Given the description of an element on the screen output the (x, y) to click on. 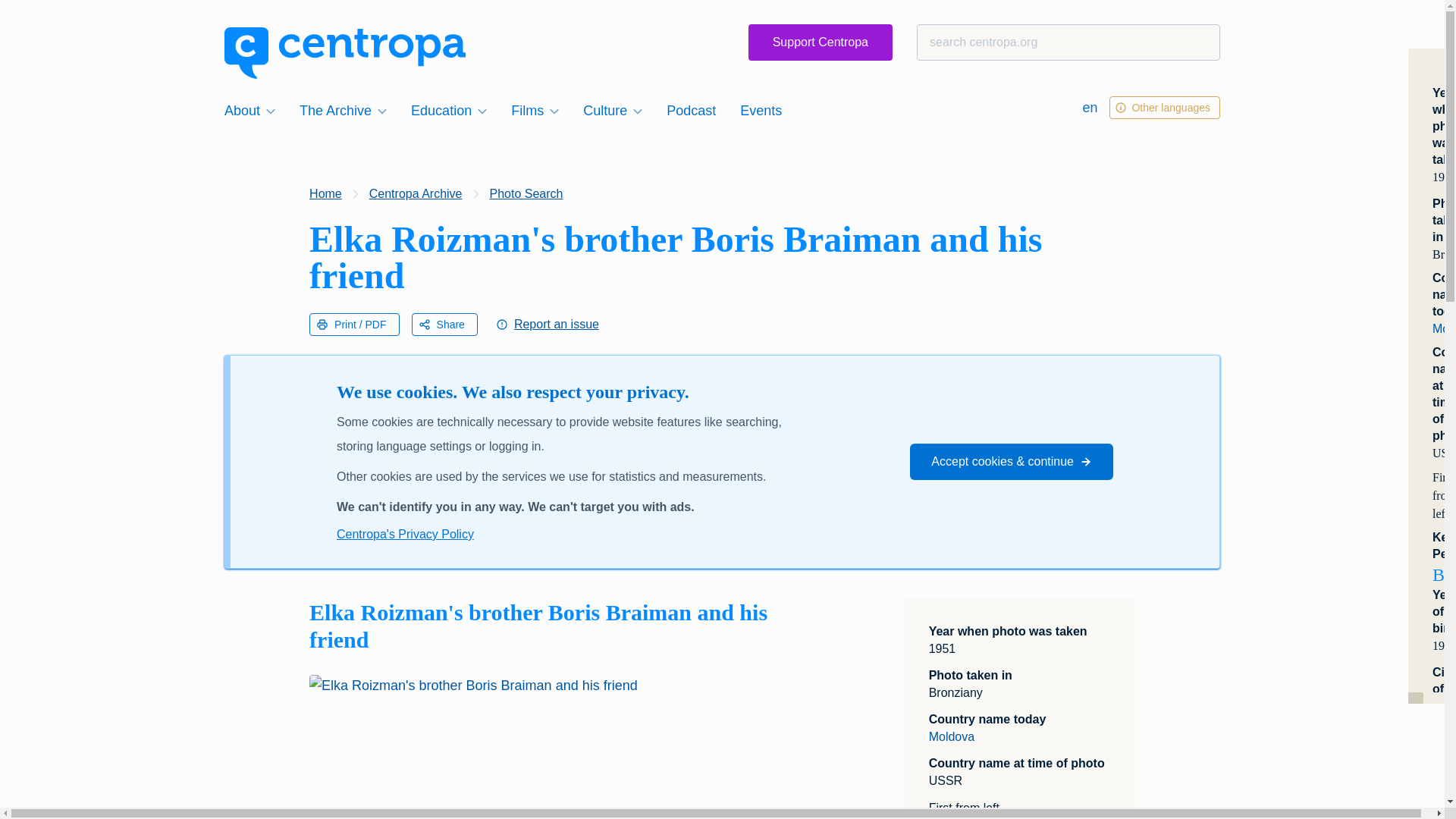
The Archive (343, 110)
Events (760, 110)
Search (40, 18)
Podcast (691, 110)
Culture (611, 110)
Support Centropa (820, 42)
Elka Roizman's brother Boris Braiman and his friend (551, 746)
Support Centropa (820, 42)
Education (448, 110)
Films (534, 110)
